Given the description of an element on the screen output the (x, y) to click on. 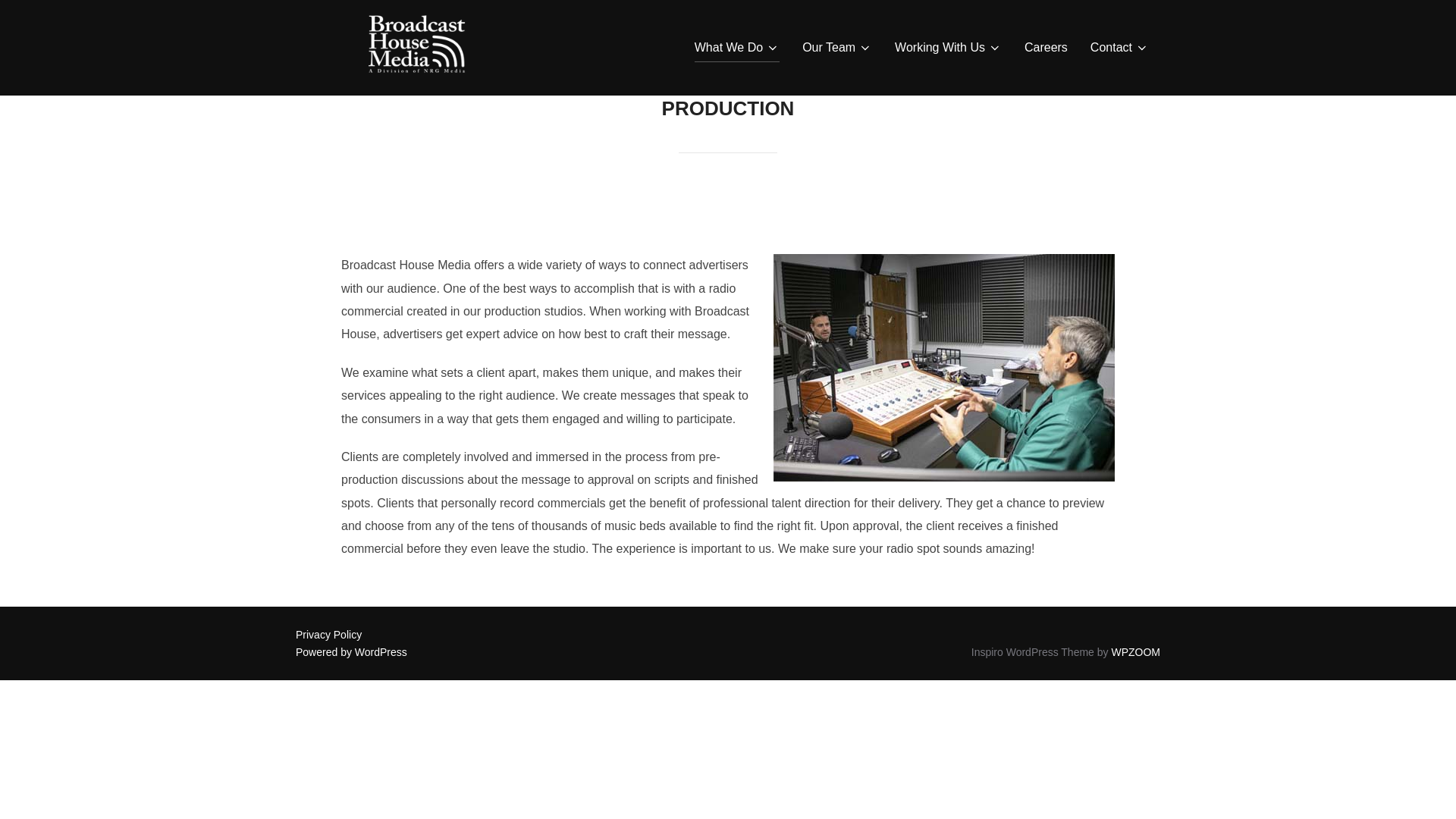
Our Team (837, 47)
What We Do (736, 47)
